Given the description of an element on the screen output the (x, y) to click on. 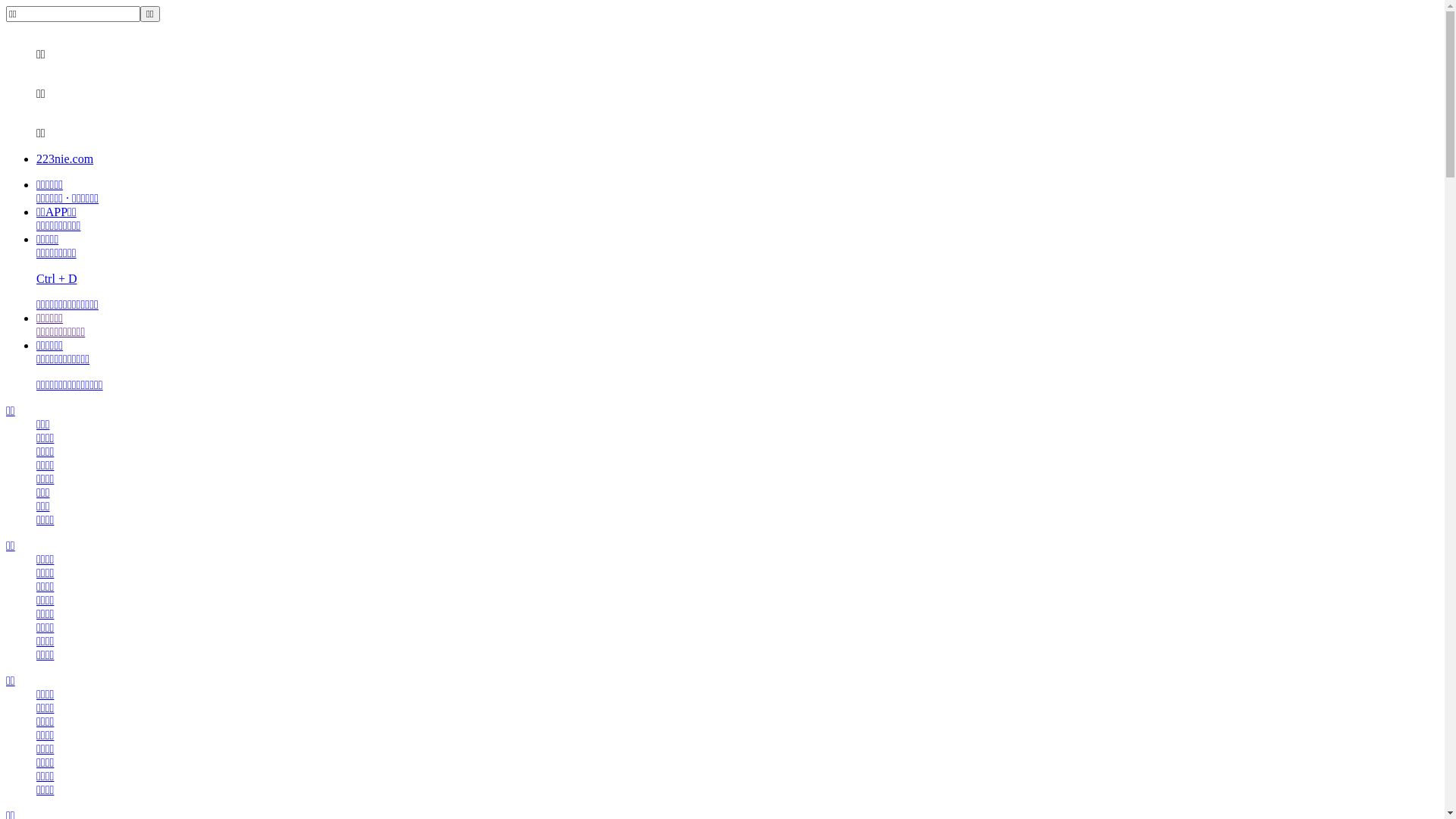
223nie.com Element type: text (64, 158)
